Given the description of an element on the screen output the (x, y) to click on. 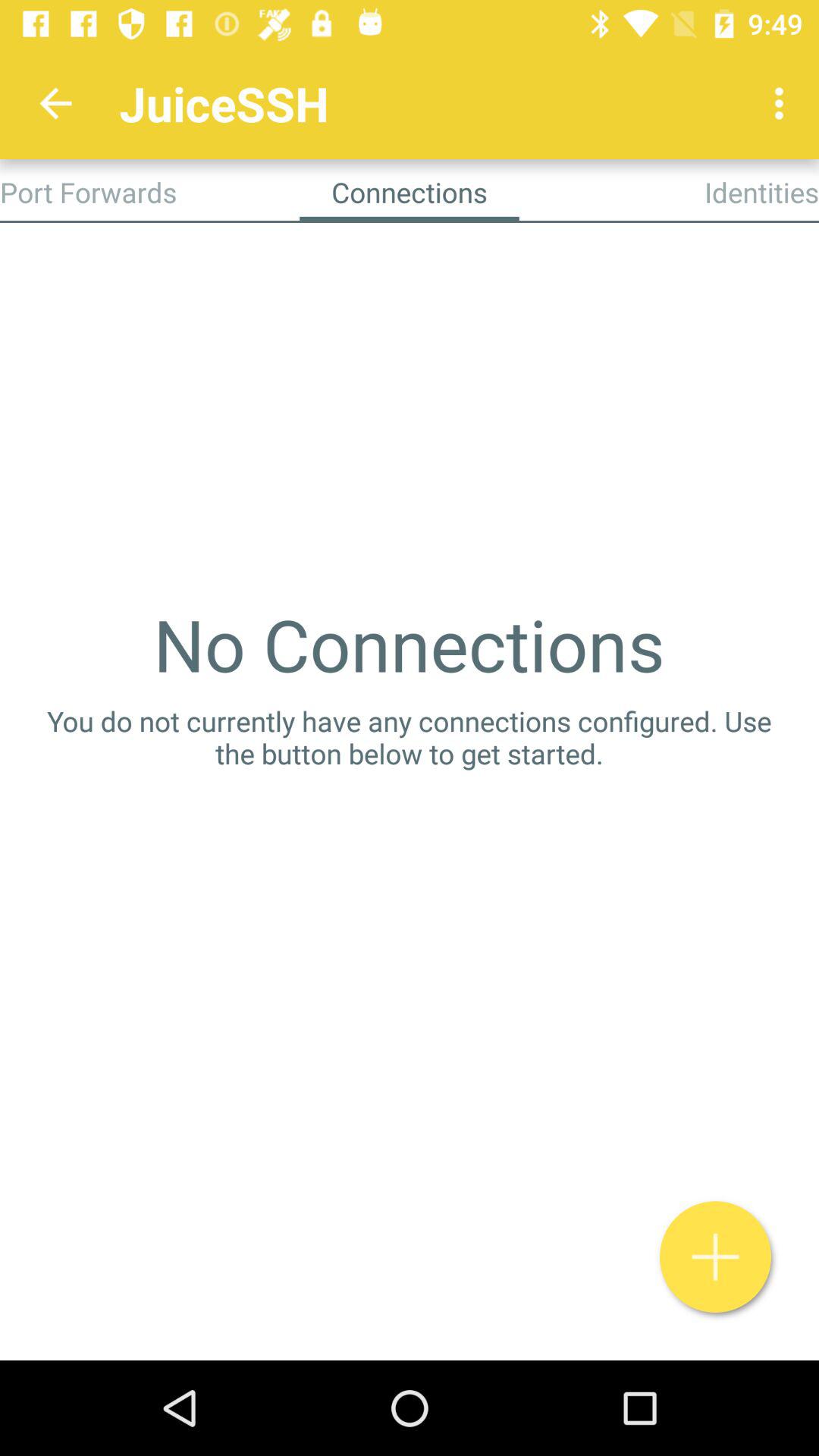
launch the item above identities (783, 103)
